Given the description of an element on the screen output the (x, y) to click on. 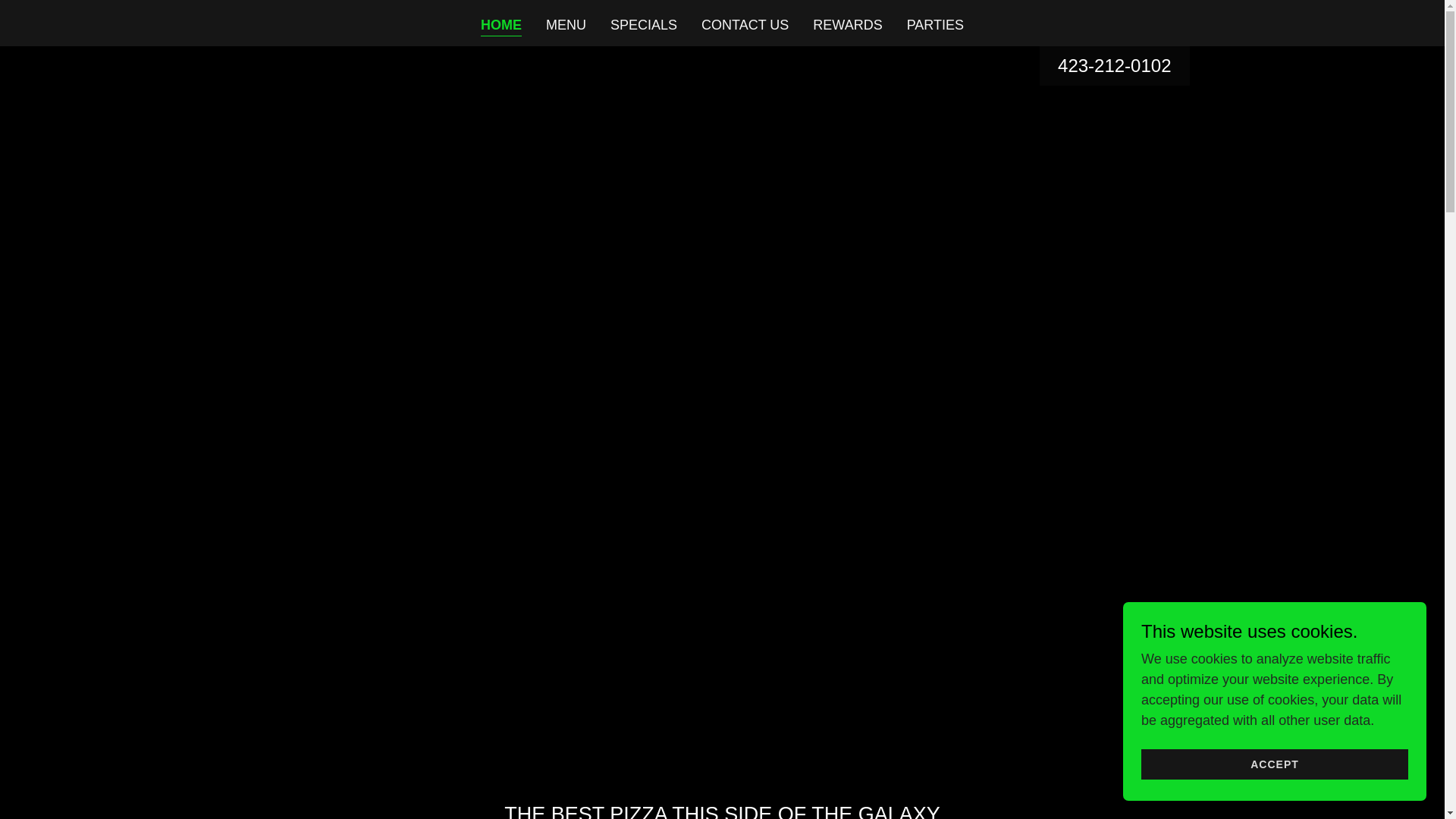
CONTACT US (745, 24)
REWARDS (847, 24)
ACCEPT (1274, 764)
423-212-0102 (1114, 65)
HOME (500, 25)
PARTIES (935, 24)
MENU (566, 24)
SPECIALS (643, 24)
